Given the description of an element on the screen output the (x, y) to click on. 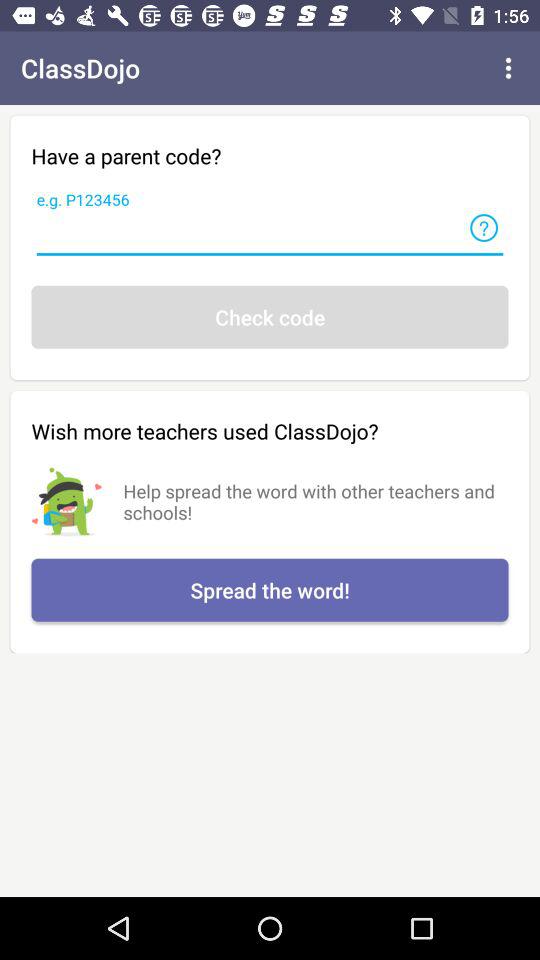
open options screen (508, 67)
